Given the description of an element on the screen output the (x, y) to click on. 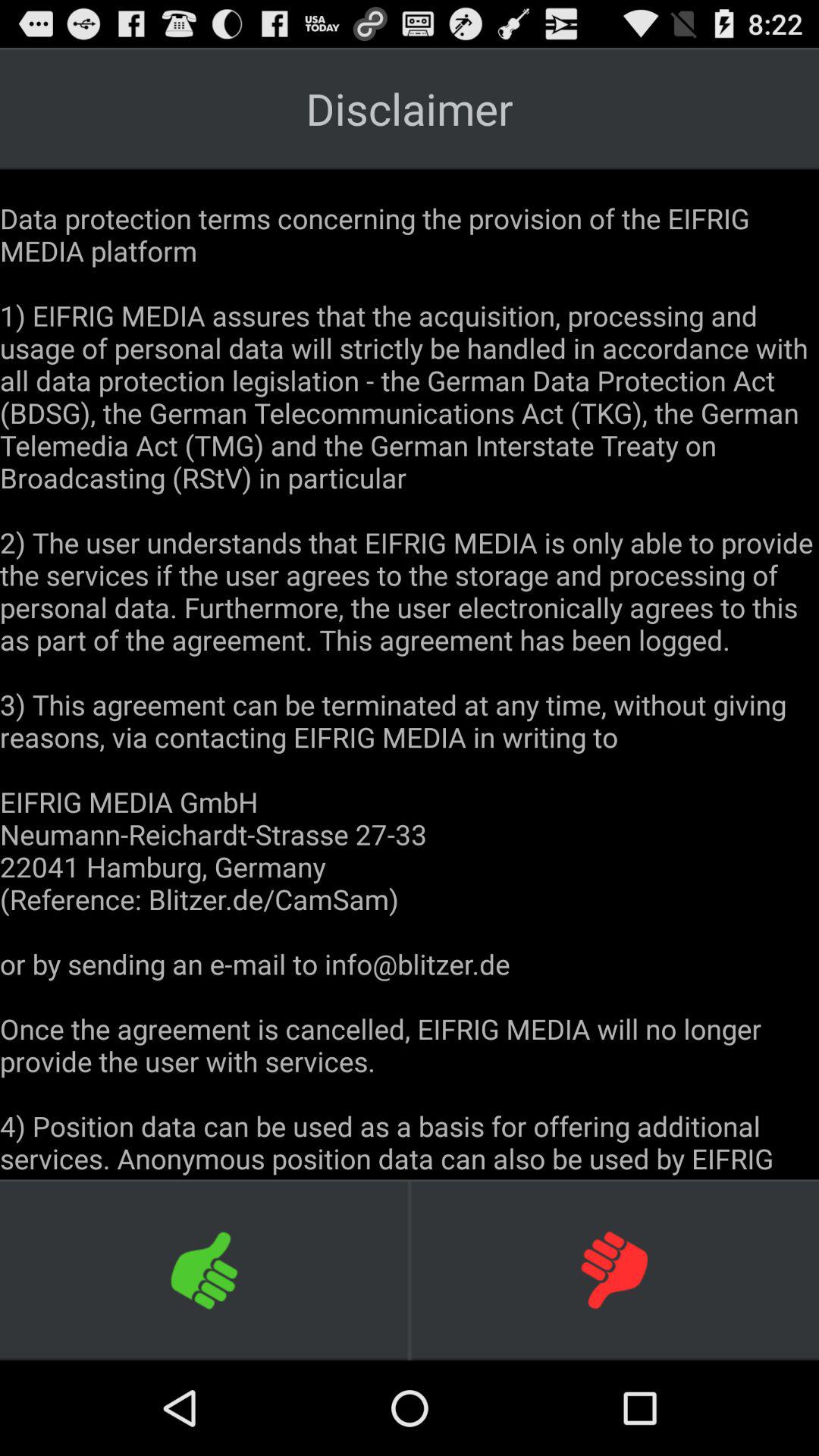
decline terms of the disclaimer (614, 1269)
